Given the description of an element on the screen output the (x, y) to click on. 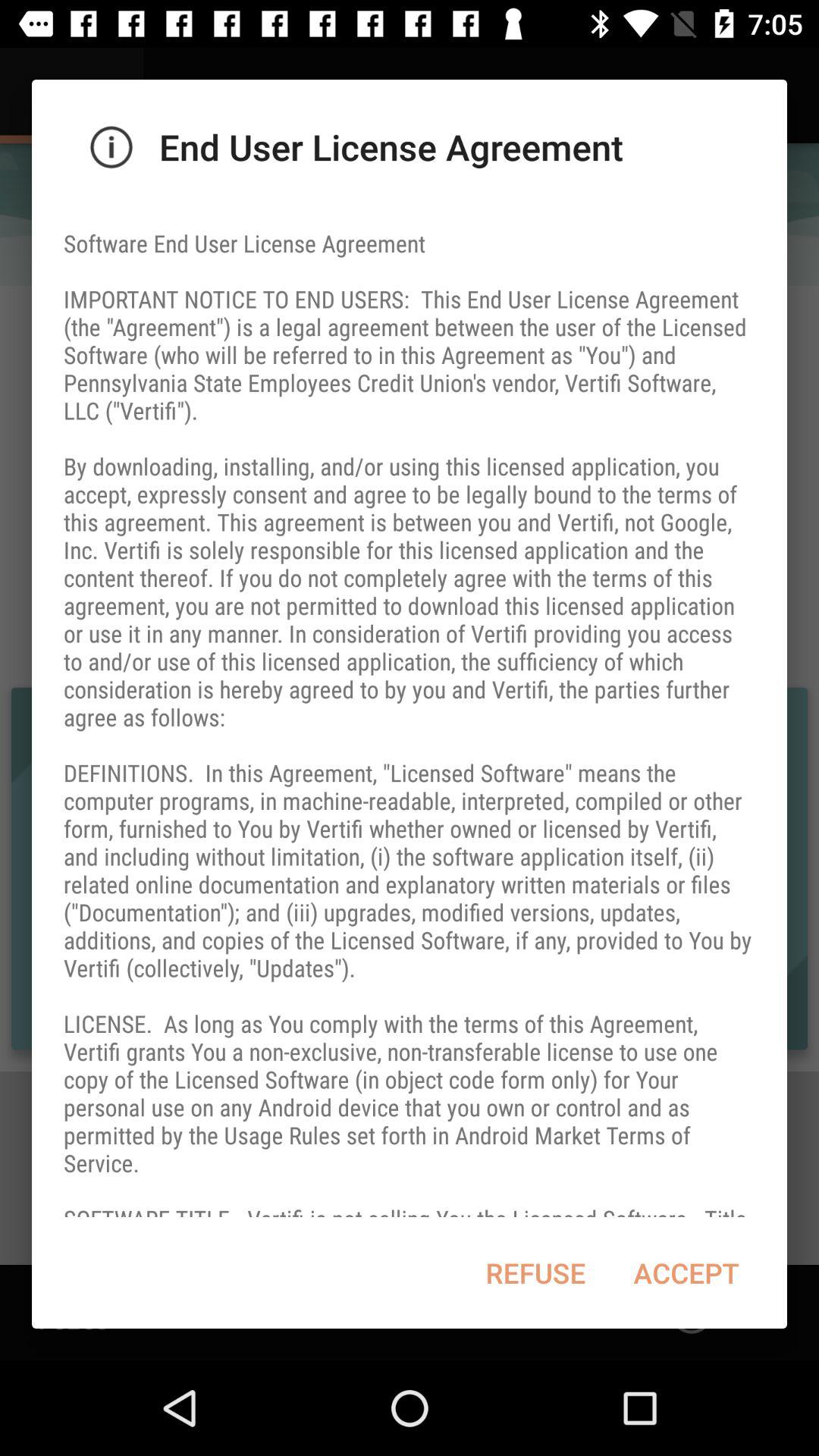
press item below software end user item (535, 1272)
